Given the description of an element on the screen output the (x, y) to click on. 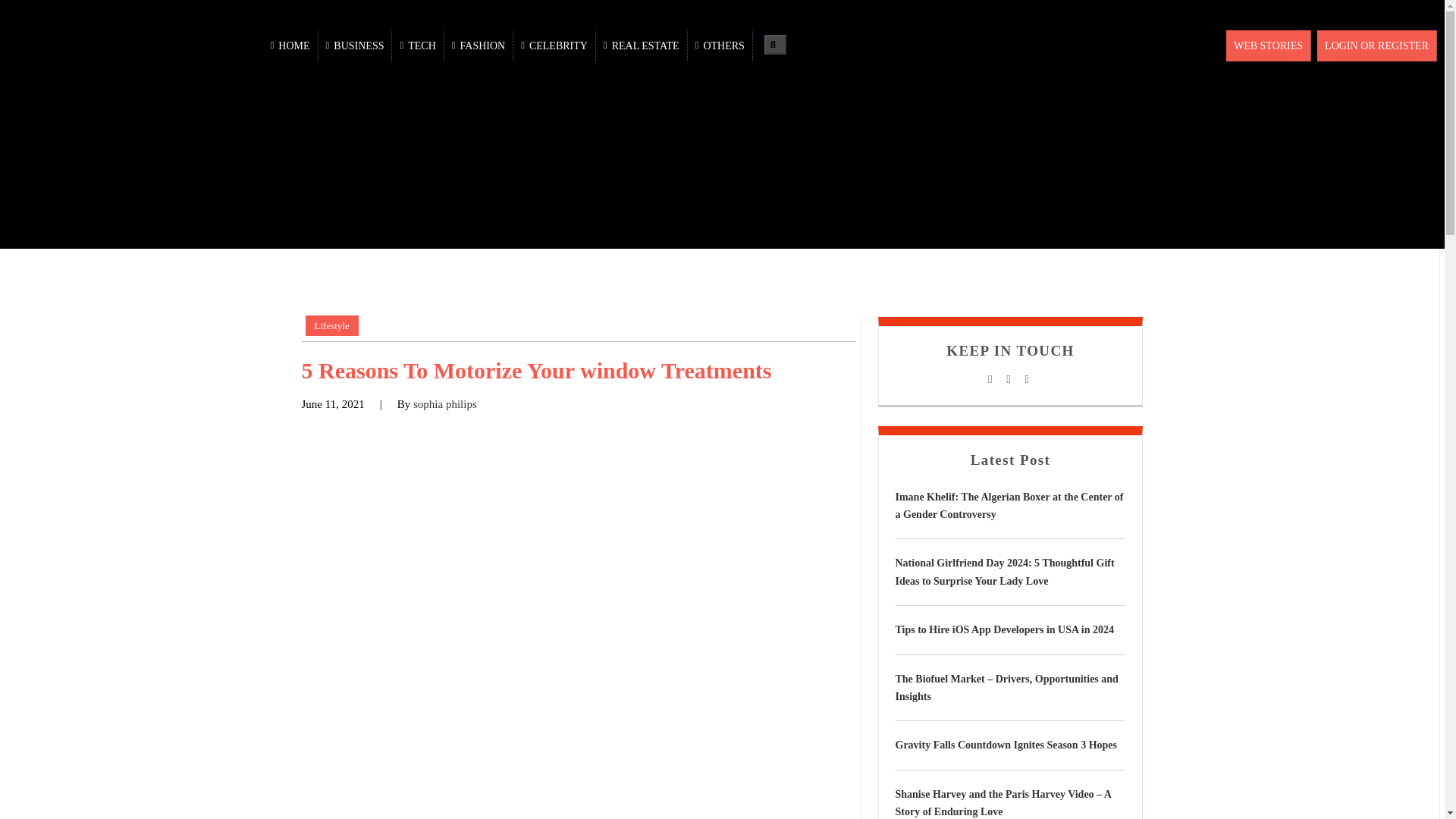
HOME (290, 45)
BUSINESS (355, 45)
OTHERS (719, 45)
CELEBRITY (554, 45)
REAL ESTATE (641, 45)
FASHION (478, 45)
September 13, 2017 (333, 404)
TECH (417, 45)
Posts by sophia philips (445, 404)
